Given the description of an element on the screen output the (x, y) to click on. 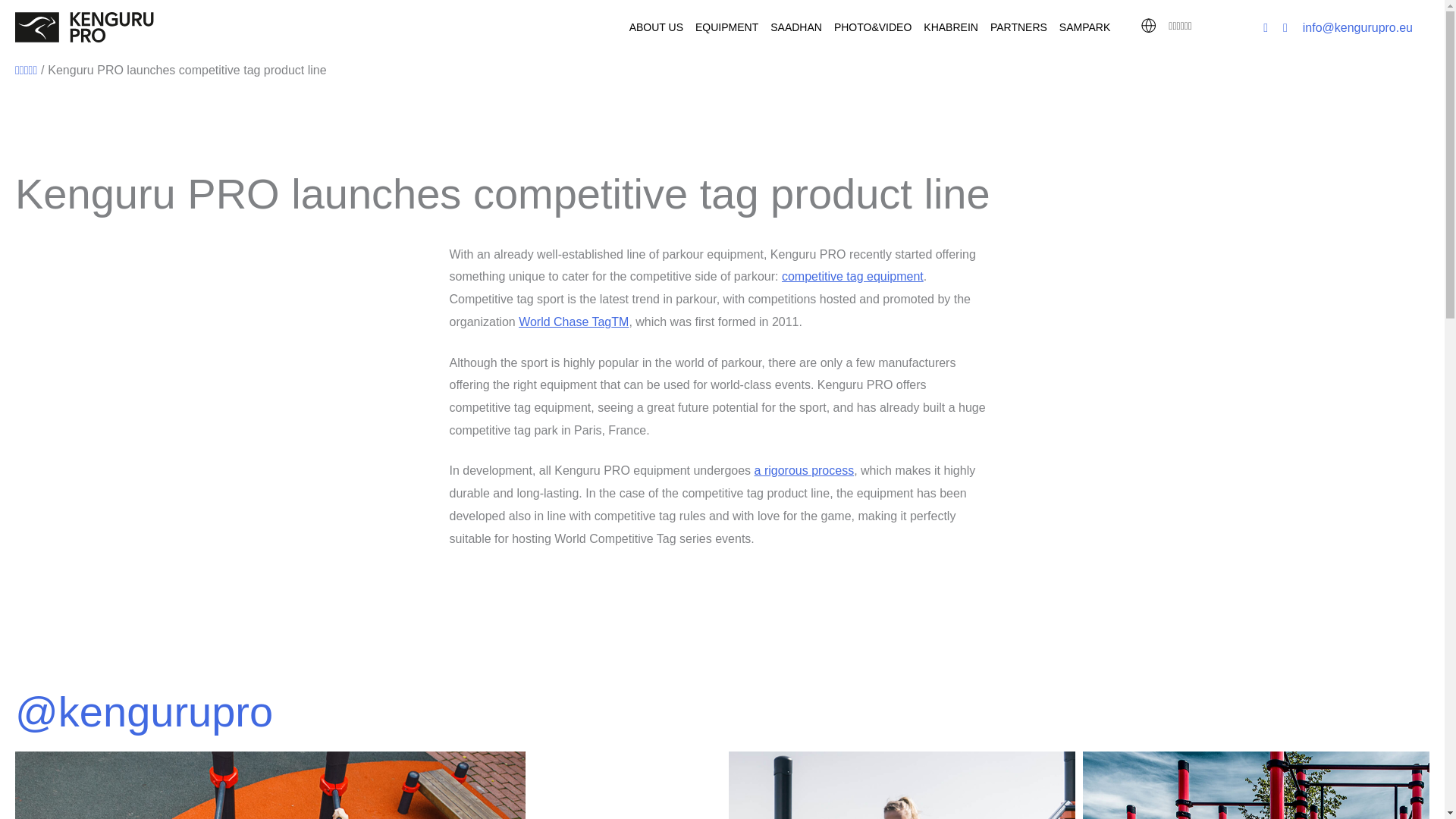
ABOUT US (655, 27)
SAADHAN (796, 27)
EQUIPMENT (726, 27)
